Given the description of an element on the screen output the (x, y) to click on. 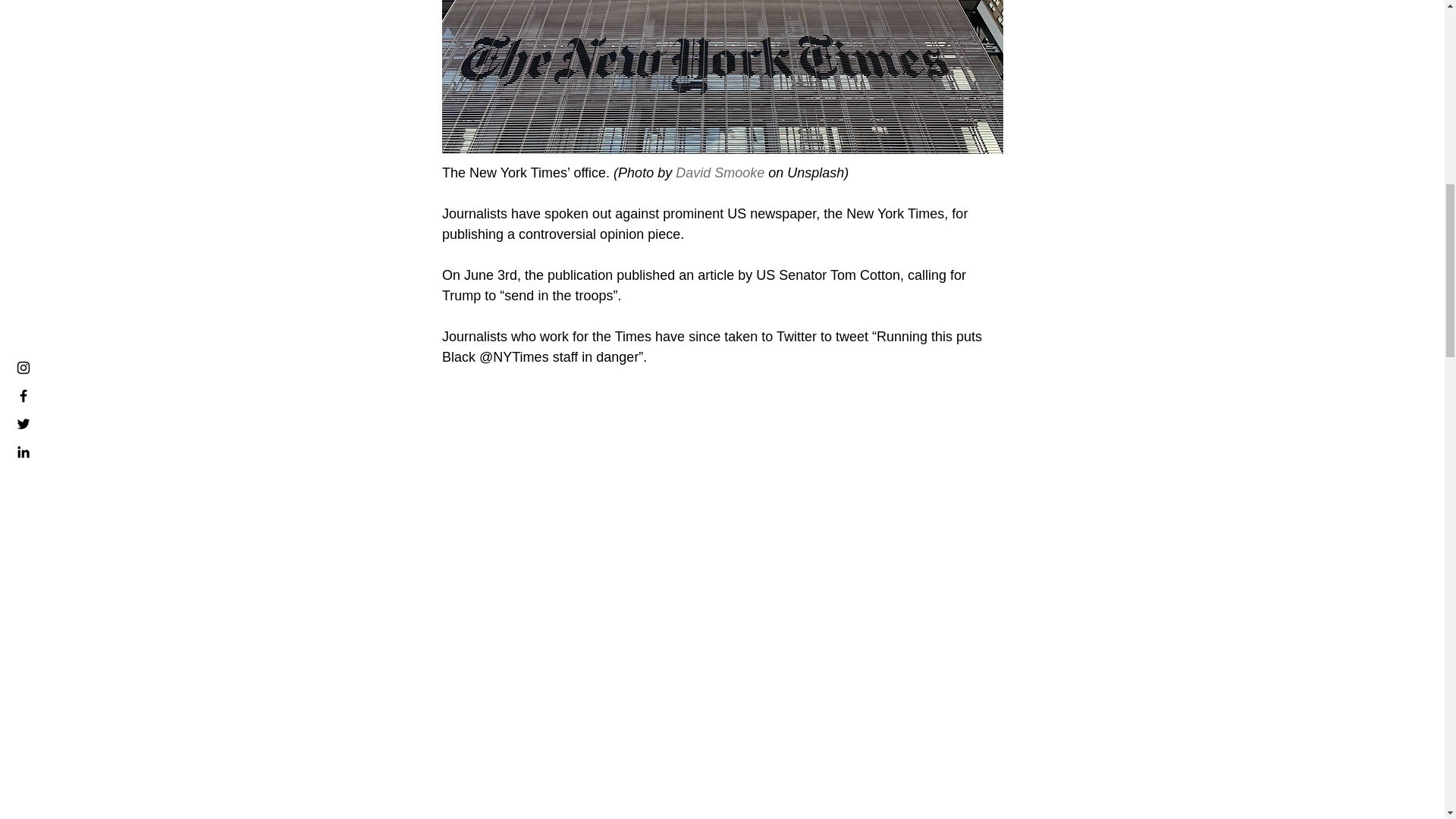
David Smooke (719, 172)
